Given the description of an element on the screen output the (x, y) to click on. 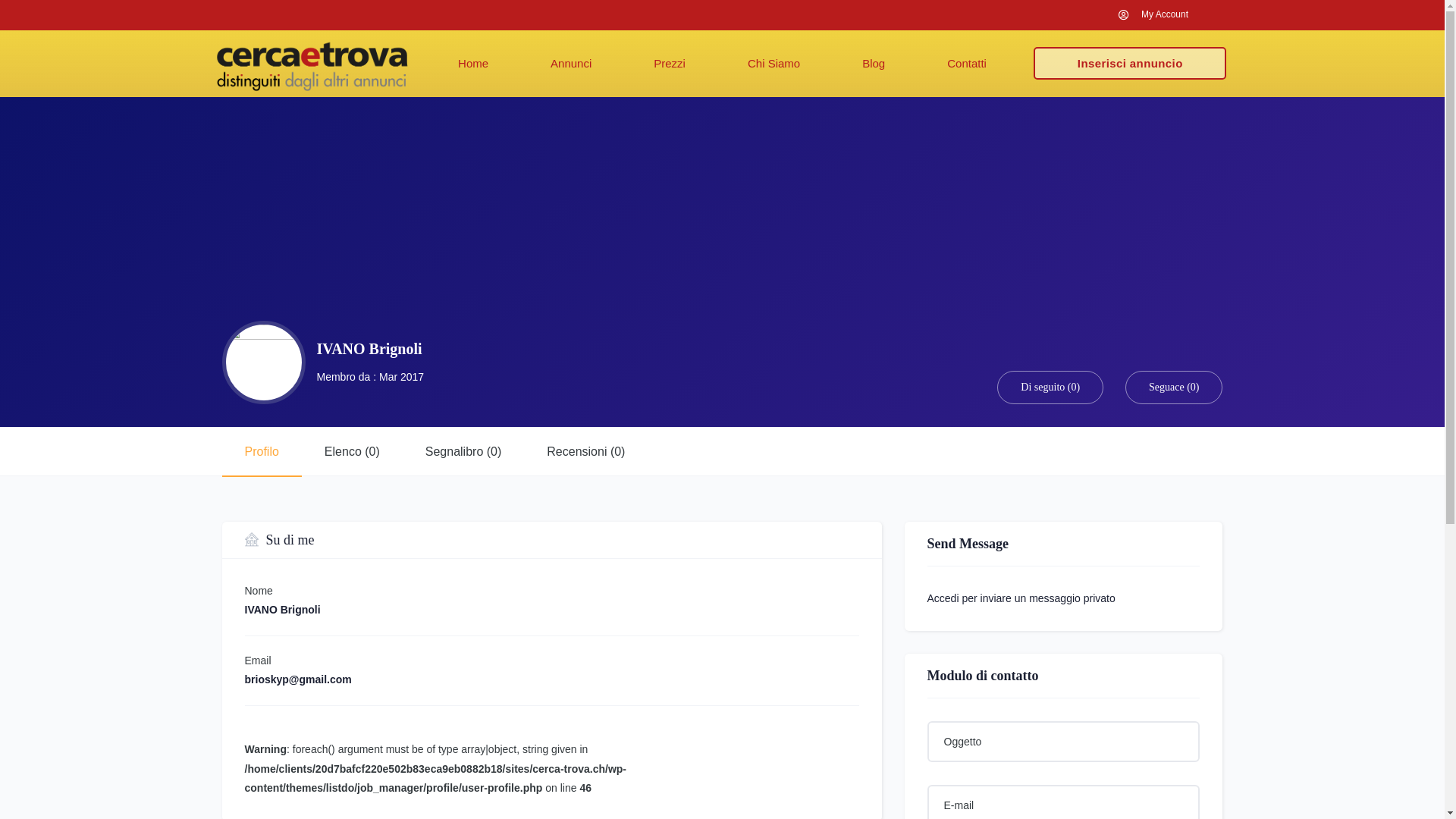
Recensioni (0) Element type: text (585, 451)
Di seguito (0) Element type: text (1050, 386)
Elenco (0) Element type: text (351, 451)
My Account Element type: text (1151, 14)
Contatti Element type: text (966, 63)
Segnalibro (0) Element type: text (463, 451)
Chi Siamo Element type: text (773, 63)
Accedi per inviare un messaggio privato Element type: text (1020, 598)
Prezzi Element type: text (669, 63)
Annunci Element type: text (570, 63)
Seguace (0) Element type: text (1173, 386)
Profilo Element type: text (261, 451)
IVANO Brignoli Element type: text (369, 348)
Home Element type: text (472, 63)
Inserisci annuncio Element type: text (1129, 63)
Blog Element type: text (873, 63)
